Given the description of an element on the screen output the (x, y) to click on. 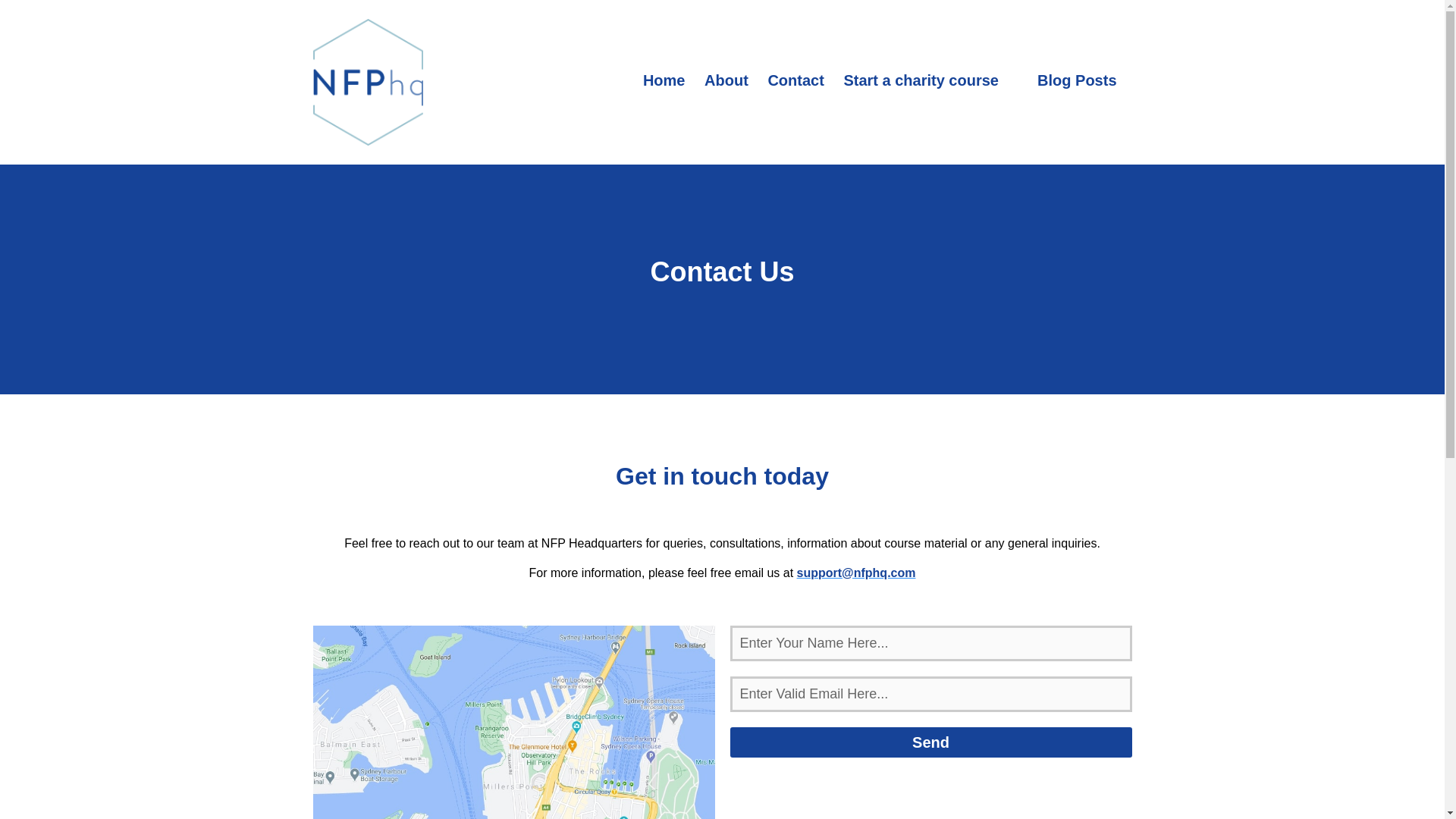
About (726, 80)
Enter Your Name Here... (930, 642)
Blog Posts (1076, 80)
Contact (795, 80)
Home (664, 80)
Start a charity course (920, 80)
Enter Valid Email Here... (930, 693)
Send (930, 742)
